Given the description of an element on the screen output the (x, y) to click on. 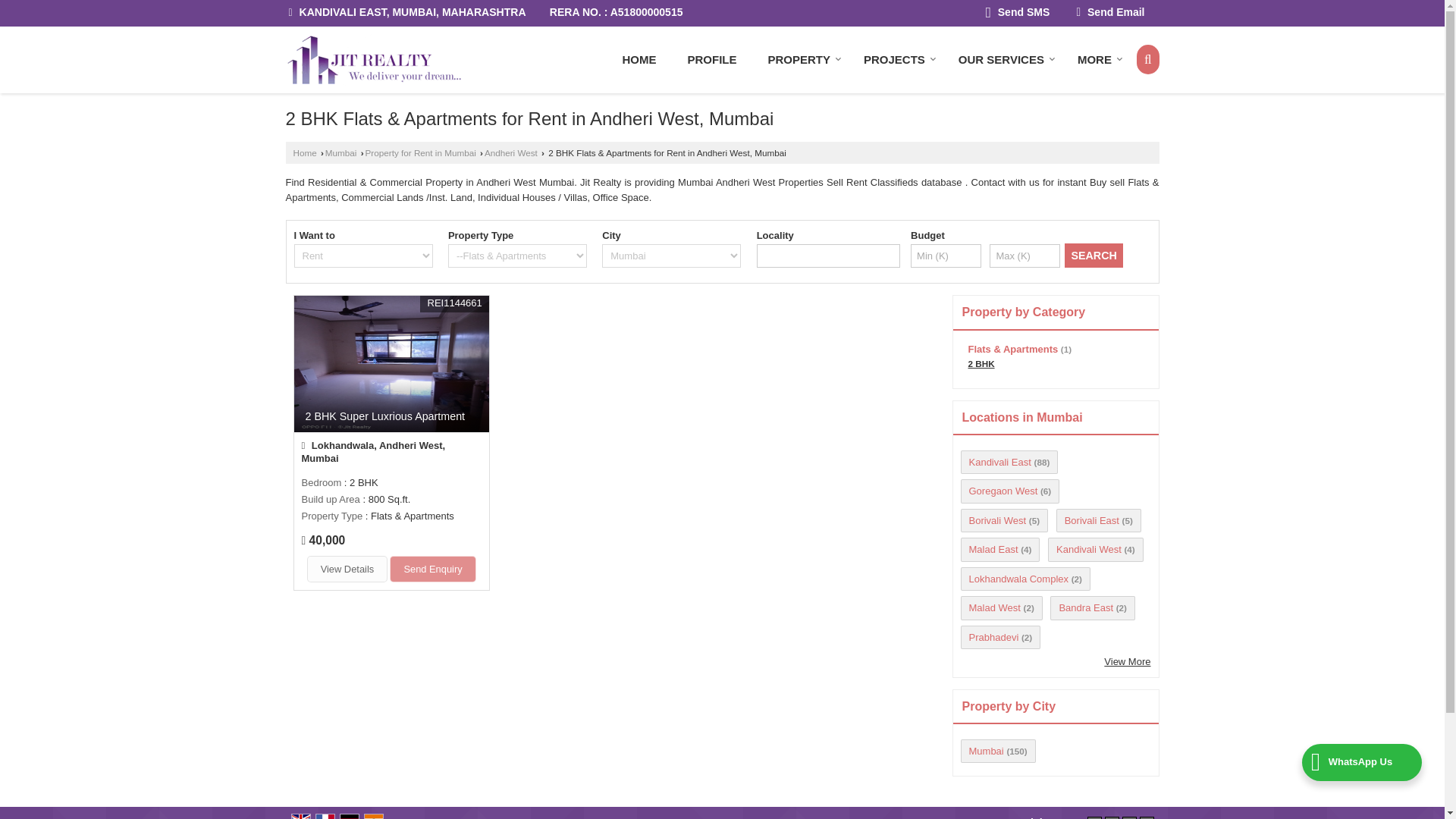
Send SMS (1017, 13)
Profile (711, 60)
HOME (639, 60)
Jit Realty (372, 59)
Property (799, 60)
SEARCH (1093, 255)
Send Email (1110, 13)
Home (639, 60)
PROPERTY (799, 60)
PROFILE (711, 60)
Search (1147, 60)
